Given the description of an element on the screen output the (x, y) to click on. 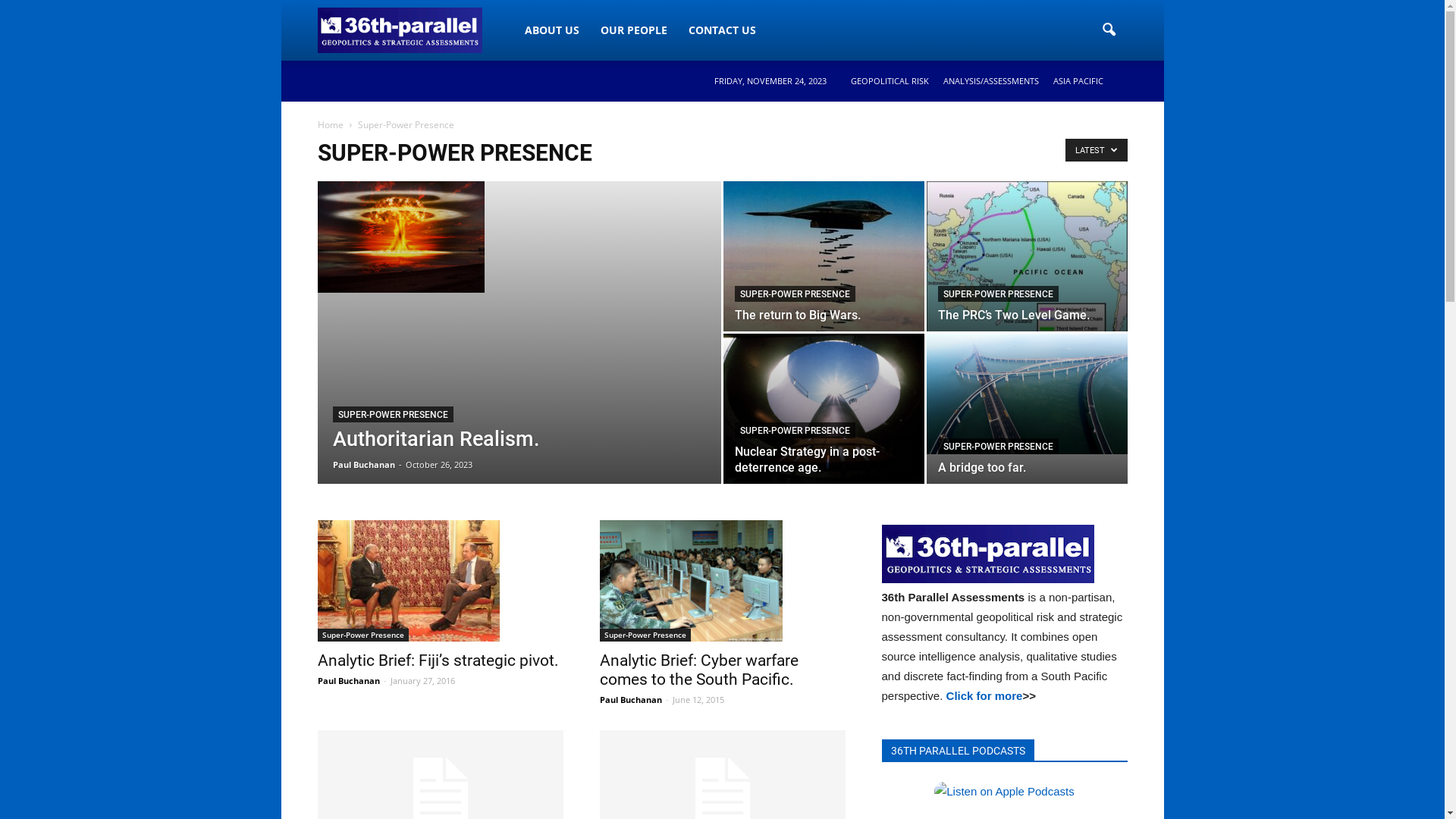
ANALYSIS/ASSESSMENTS Element type: text (990, 80)
GEOPOLITICAL RISK Element type: text (889, 80)
Click for more Element type: text (984, 695)
Super-Power Presence Element type: text (644, 634)
Paul Buchanan Element type: text (347, 680)
Authoritarian Realism. Element type: text (435, 438)
Analytic Brief: Cyber warfare comes to the South Pacific. Element type: text (698, 669)
SUPER-POWER PRESENCE Element type: text (997, 293)
36th-Parallel.com Element type: hover (399, 30)
The return to Big Wars. Element type: text (796, 314)
A bridge too far. Element type: hover (1026, 393)
Analytic Brief: Cyber warfare comes to the South Pacific. Element type: hover (690, 580)
Home Element type: text (329, 124)
Analytic Brief: Cyber warfare comes to the South Pacific. Element type: hover (721, 580)
ABOUT US Element type: text (551, 30)
Paul Buchanan Element type: text (363, 464)
CONTACT US Element type: text (721, 30)
Super-Power Presence Element type: text (361, 634)
SUPER-POWER PRESENCE Element type: text (392, 414)
Paul Buchanan Element type: text (630, 699)
SUPER-POWER PRESENCE Element type: text (794, 430)
ASIA PACIFIC Element type: text (1077, 80)
Nuclear Strategy in a post-deterrence age. Element type: text (806, 459)
Authoritarian Realism. Element type: hover (518, 236)
A bridge too far. Element type: text (981, 467)
SUPER-POWER PRESENCE Element type: text (794, 293)
SUPER-POWER PRESENCE Element type: text (997, 446)
OUR PEOPLE Element type: text (633, 30)
The return to Big Wars. Element type: hover (823, 256)
Nuclear Strategy in a post-deterrence age. Element type: hover (823, 408)
Authoritarian Realism. Element type: hover (399, 236)
